Given the description of an element on the screen output the (x, y) to click on. 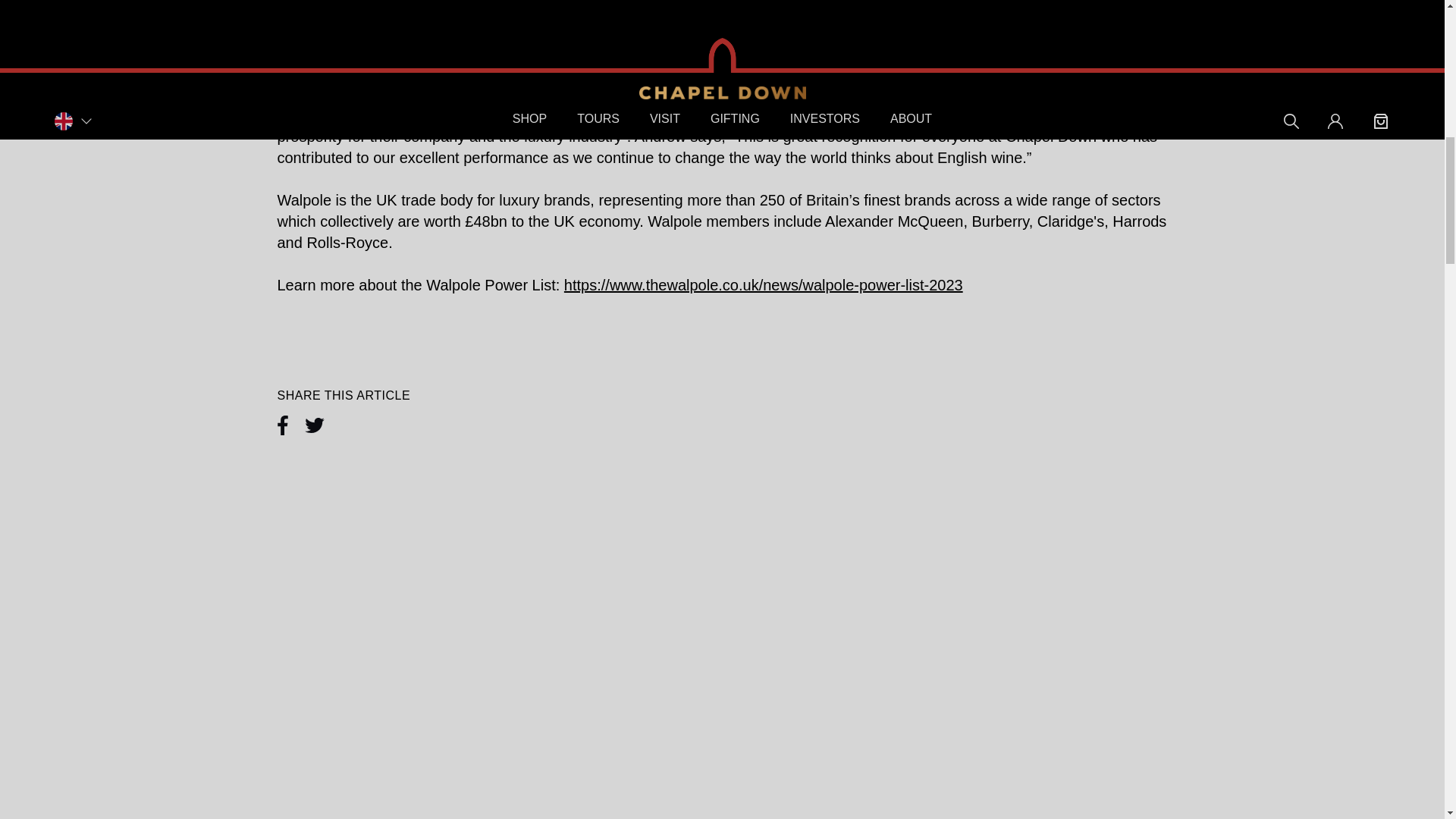
Learn more (1281, 257)
cookies (1214, 65)
Accept (1281, 222)
